Given the description of an element on the screen output the (x, y) to click on. 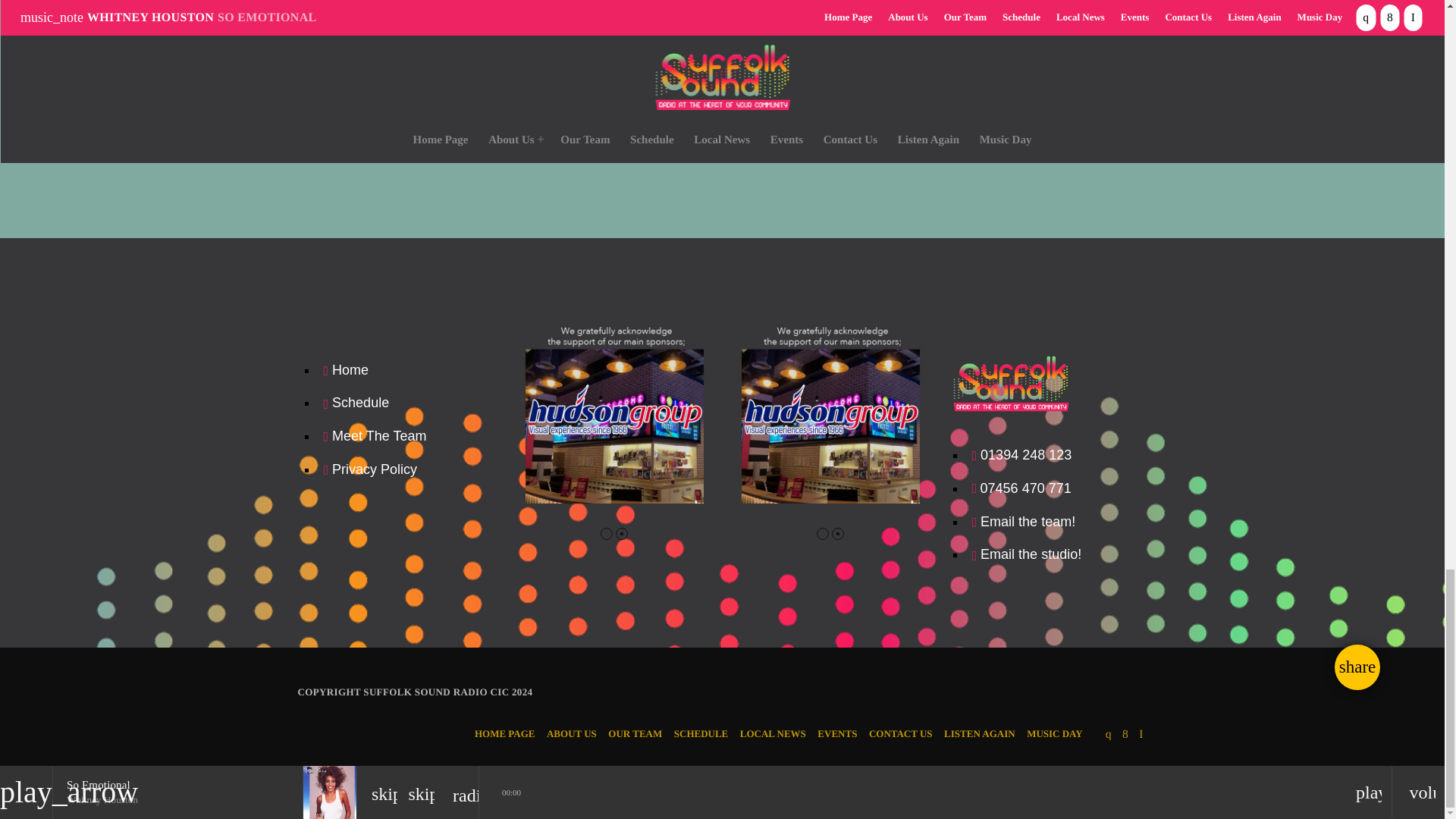
Hudsons Signs (613, 414)
Hudsons Signs (830, 414)
